Given the description of an element on the screen output the (x, y) to click on. 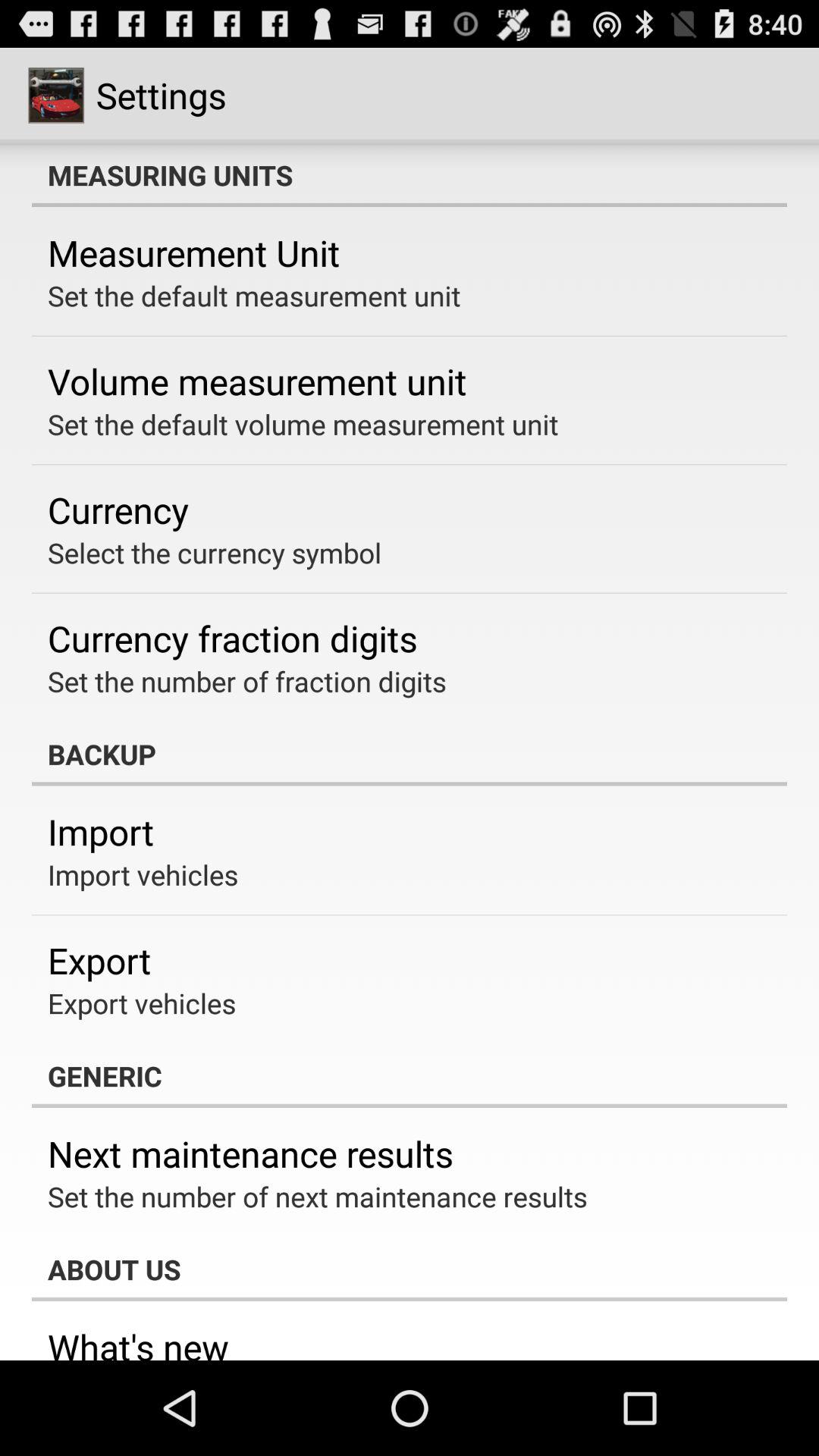
flip to the select the currency item (214, 552)
